Given the description of an element on the screen output the (x, y) to click on. 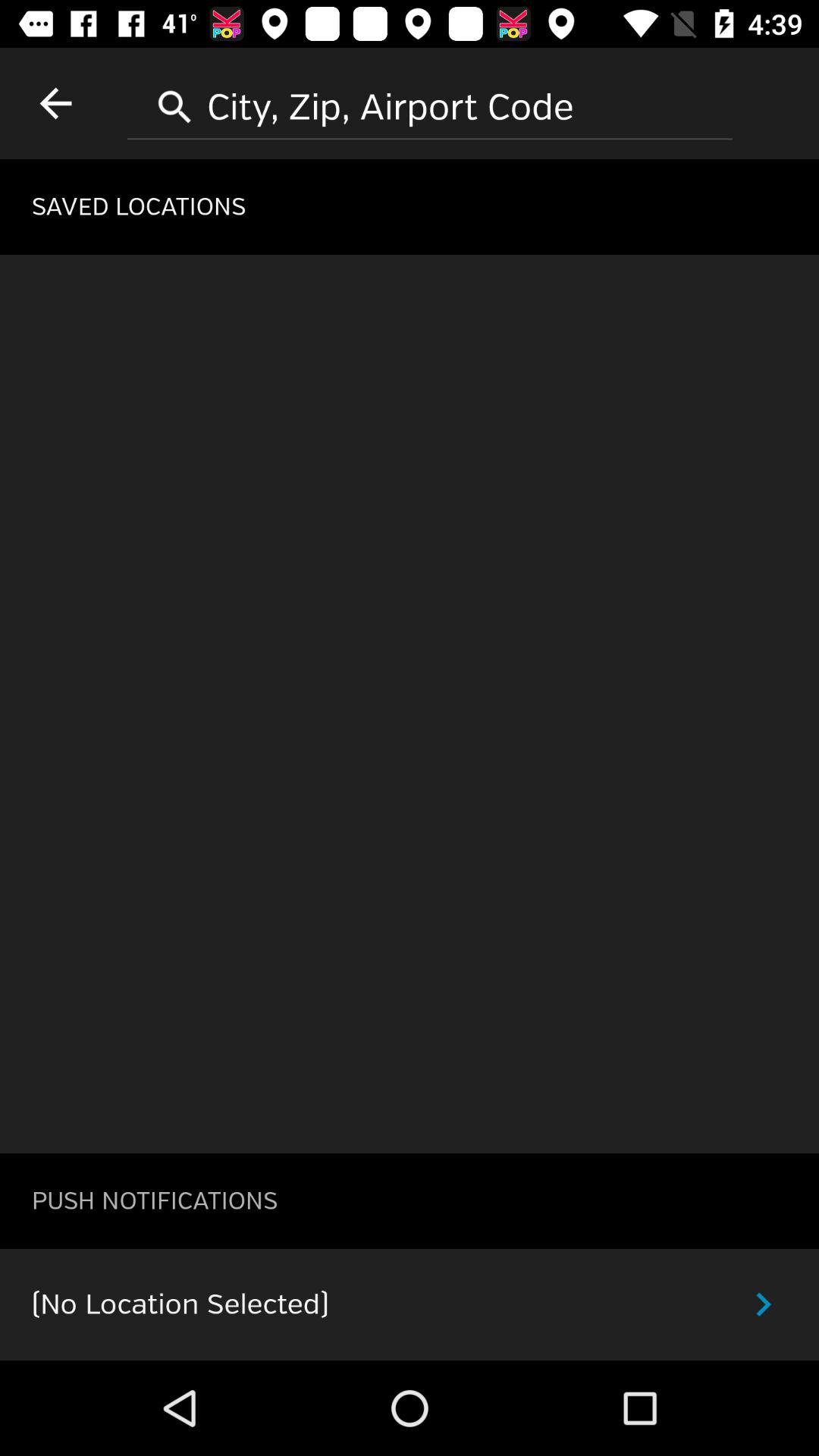
select item at the top left corner (55, 103)
